Given the description of an element on the screen output the (x, y) to click on. 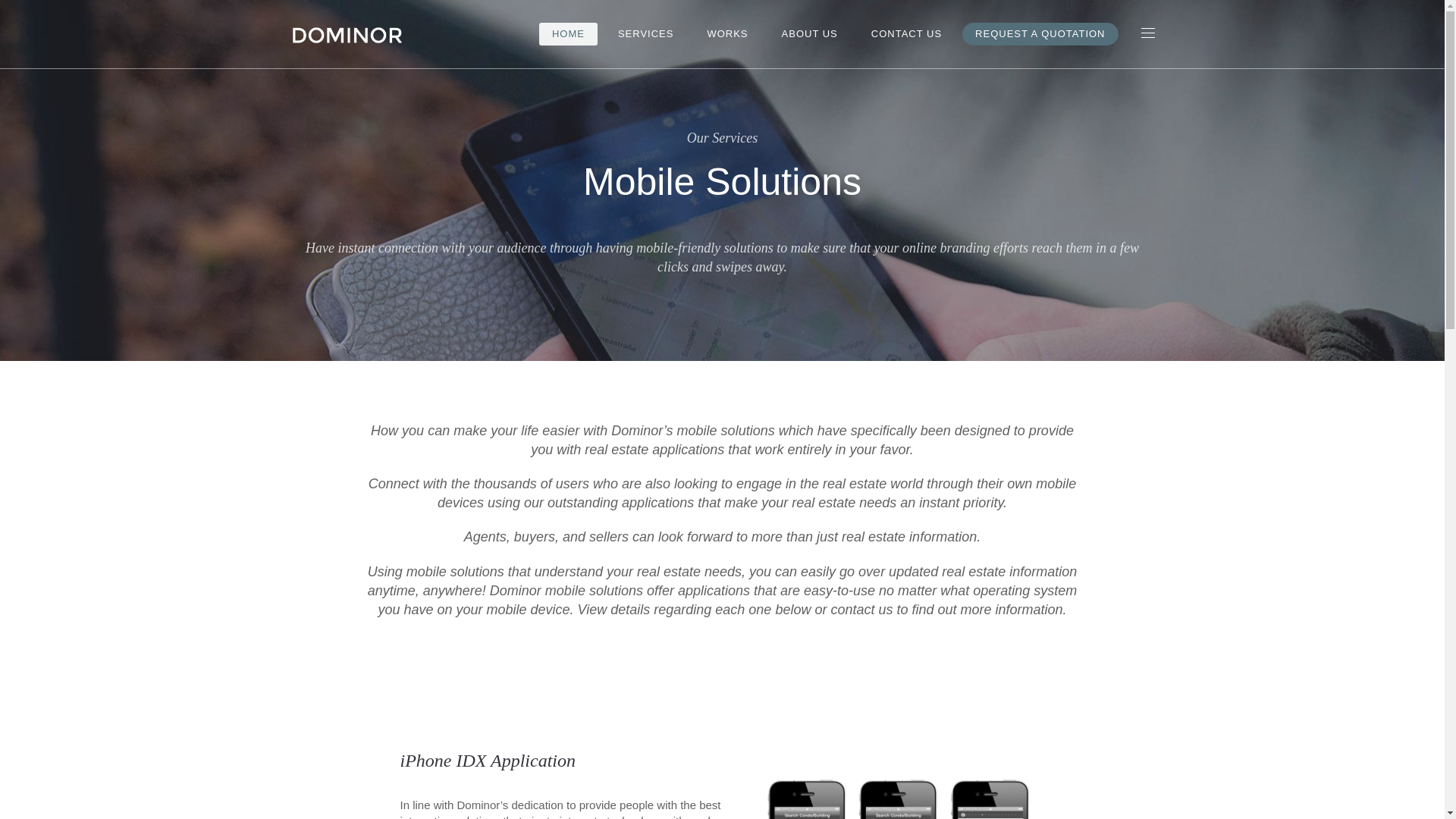
SERVICES (646, 33)
REQUEST A QUOTATION (1040, 33)
WORKS (727, 33)
ABOUT US (809, 33)
HOME (567, 33)
CONTACT US (907, 33)
